Given the description of an element on the screen output the (x, y) to click on. 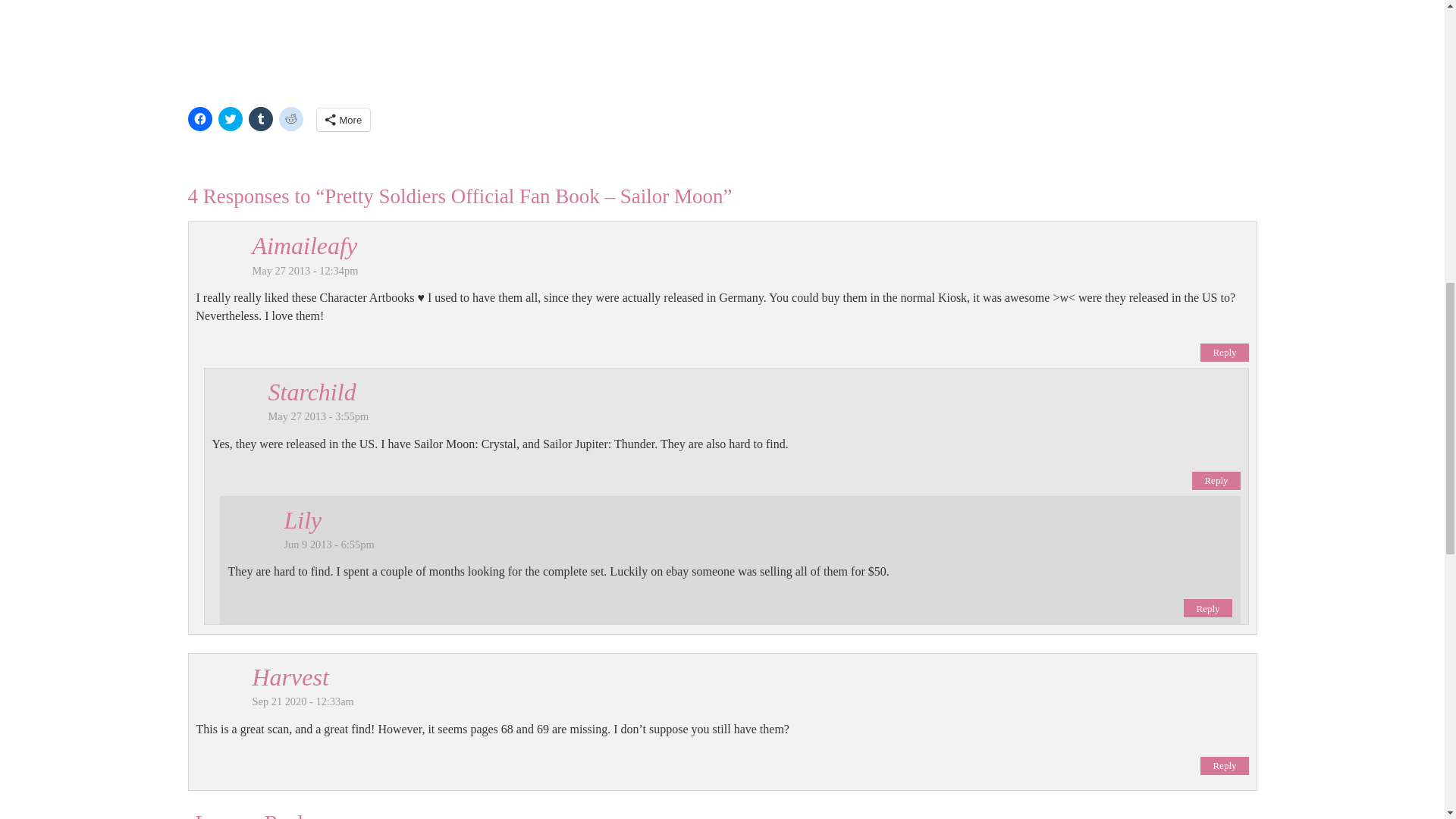
Click to share on Reddit (290, 119)
Click to share on Twitter (230, 119)
Click to share on Facebook (199, 119)
Click to share on Tumblr (260, 119)
